Given the description of an element on the screen output the (x, y) to click on. 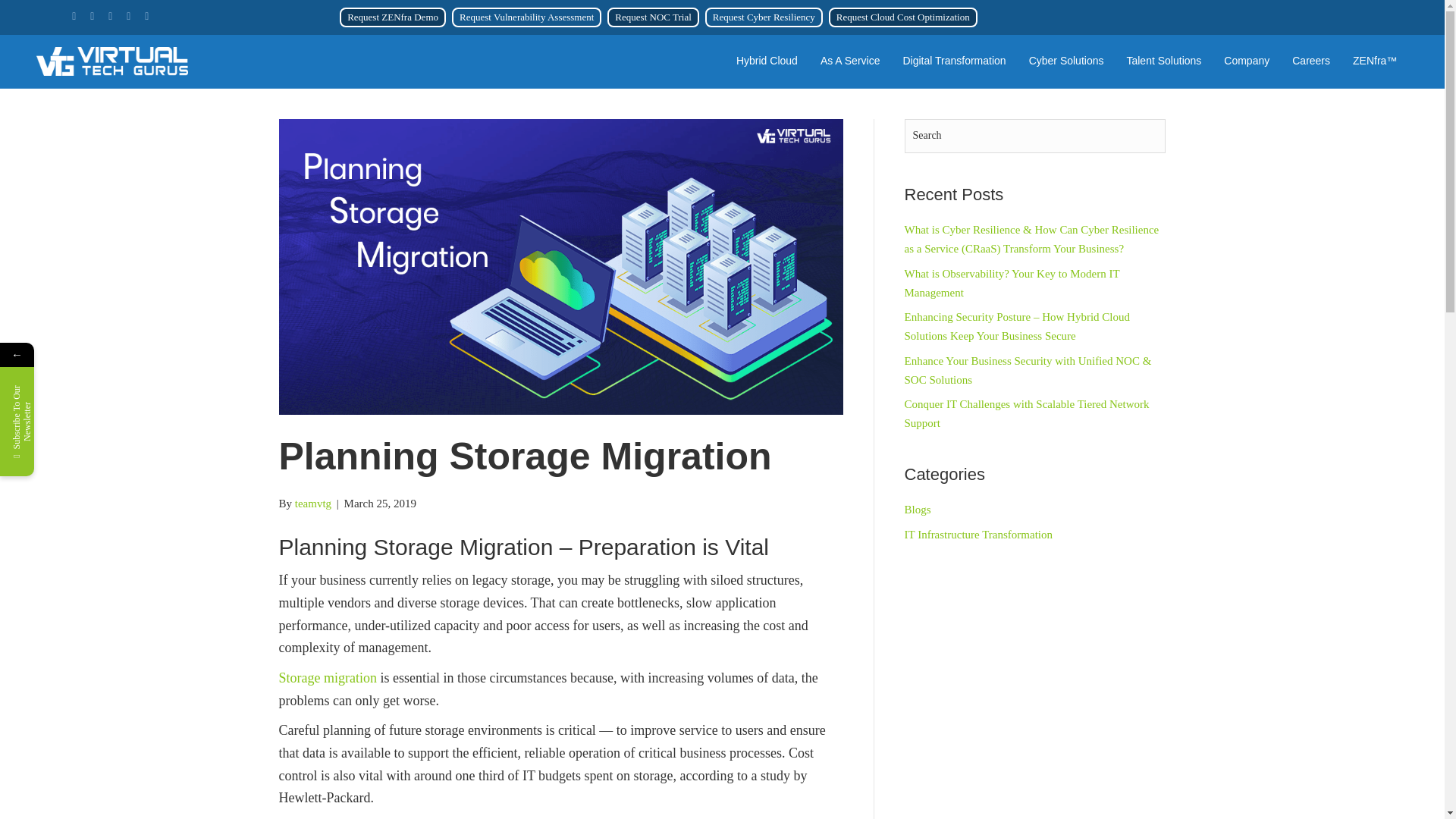
Search (1035, 135)
Search (1035, 135)
Type and press Enter to search. (1035, 135)
